Given the description of an element on the screen output the (x, y) to click on. 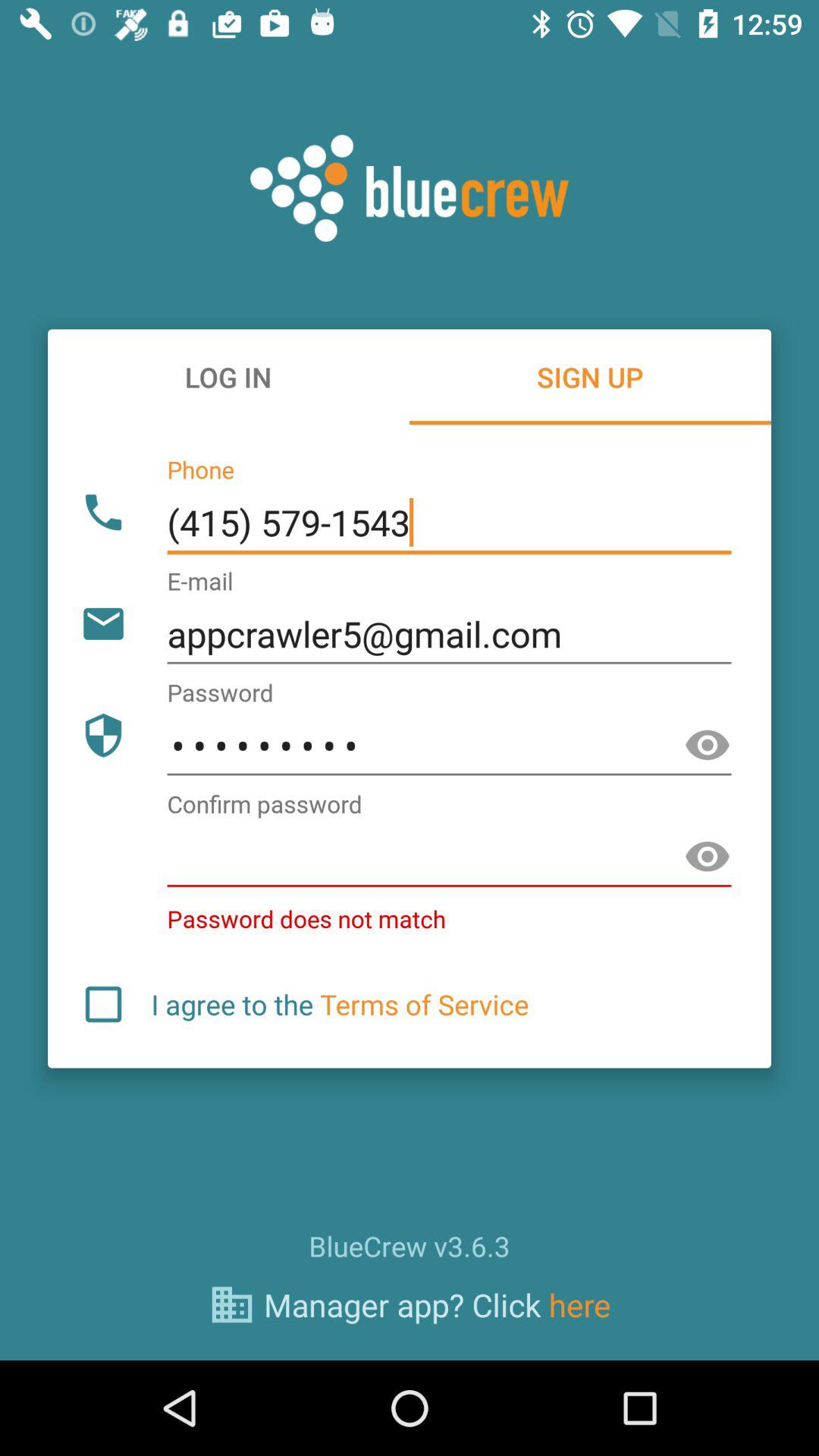
make a binary choice (103, 1004)
